Given the description of an element on the screen output the (x, y) to click on. 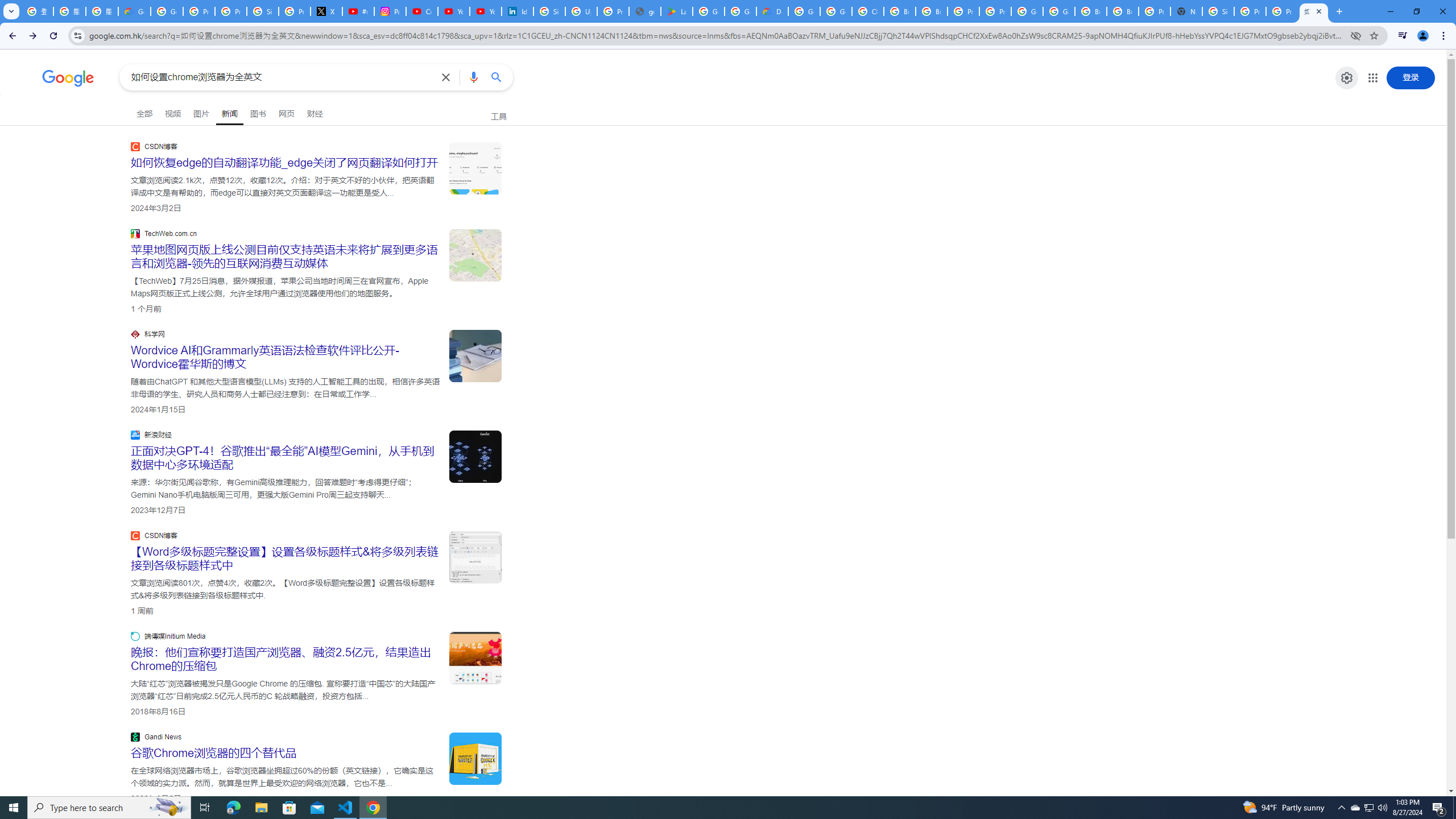
Sign in - Google Accounts (549, 11)
Google Cloud Platform (1027, 11)
Browse Chrome as a guest - Computer - Google Chrome Help (1091, 11)
#nbabasketballhighlights - YouTube (358, 11)
New Tab (1185, 11)
